Given the description of an element on the screen output the (x, y) to click on. 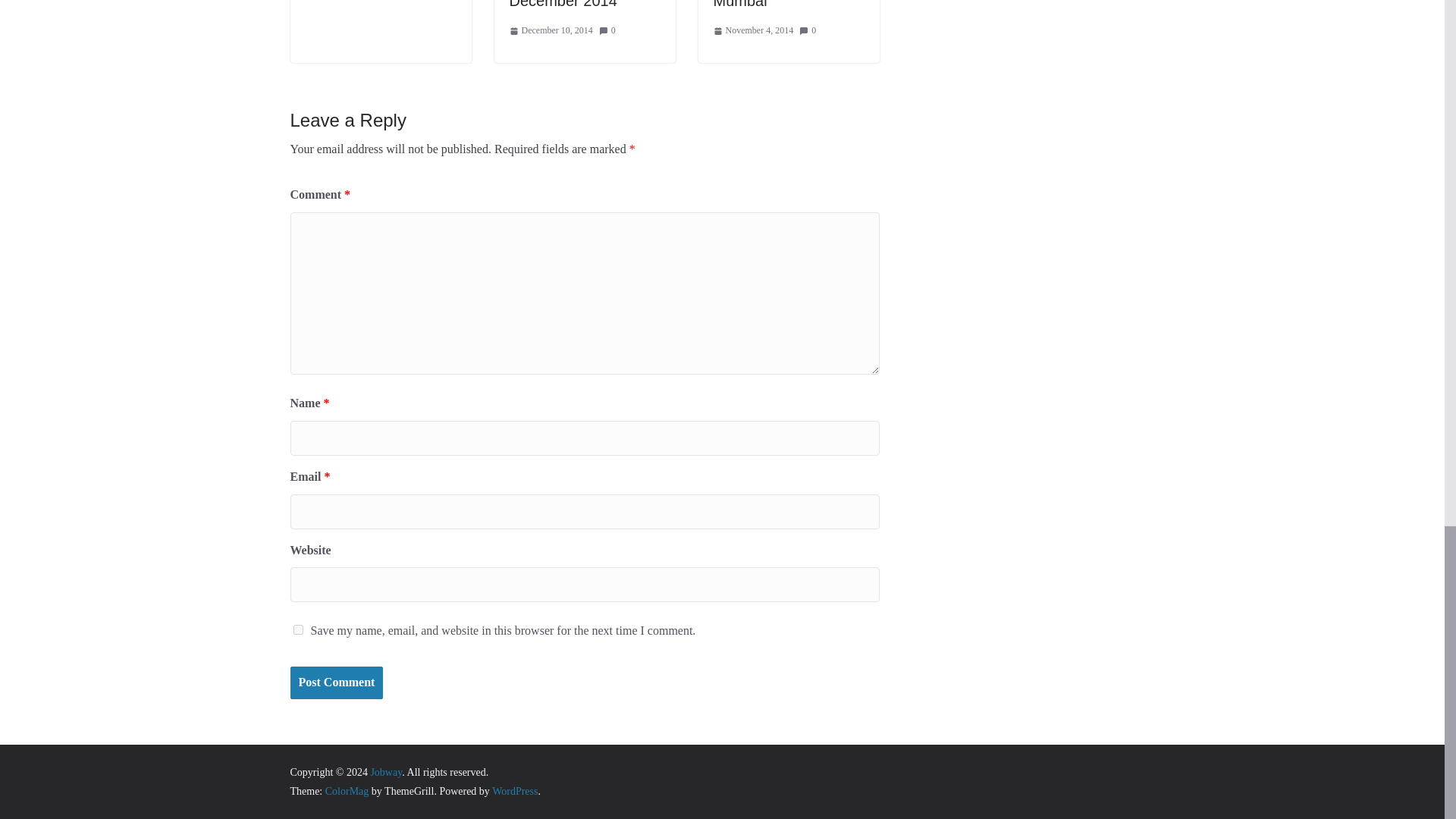
December 10, 2014 (550, 30)
yes (297, 629)
Post Comment (335, 682)
12:12 pm (550, 30)
